Given the description of an element on the screen output the (x, y) to click on. 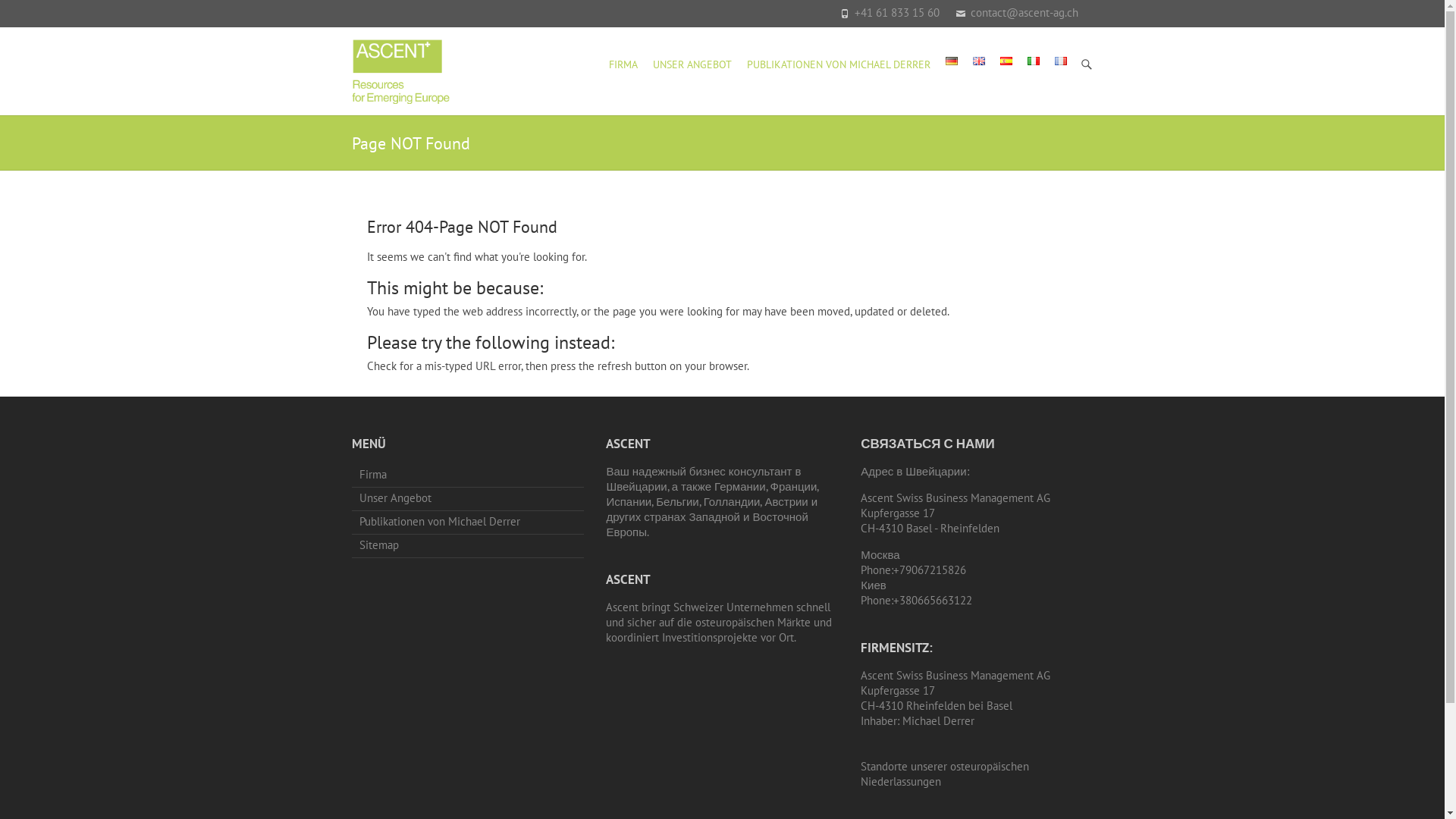
Publikationen von Michael Derrer Element type: text (467, 522)
contact@ascent-ag.ch Element type: text (1024, 12)
Michael Derrer Element type: text (938, 720)
+79067215826 Element type: text (929, 569)
Sitemap Element type: text (467, 546)
+380665663122 Element type: text (932, 600)
UNSER ANGEBOT Element type: text (691, 65)
Firma Element type: text (467, 475)
Italiano Element type: hover (1032, 60)
Deutsch Element type: hover (950, 60)
Unser Angebot Element type: text (467, 499)
FIRMA Element type: text (622, 65)
PUBLIKATIONEN VON MICHAEL DERRER Element type: text (837, 65)
English Element type: hover (978, 60)
+41 61 833 15 60 Element type: text (895, 12)
Ascent Swiss Business Management AG Element type: hover (400, 70)
